Given the description of an element on the screen output the (x, y) to click on. 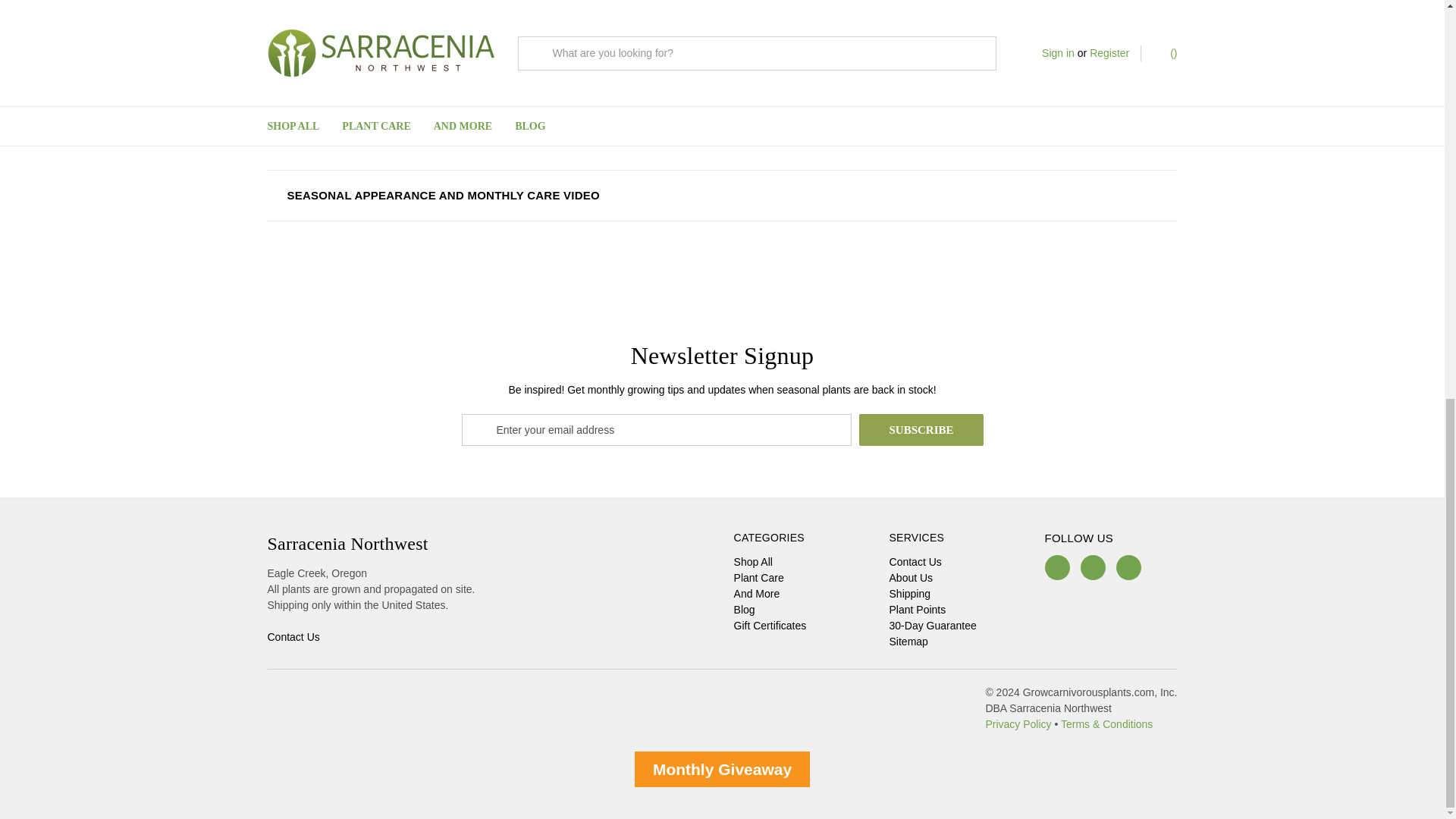
Subscribe (920, 429)
Nepenthes Buttons, mother plant (535, 16)
Nepenthes Buttons, mother plant (481, 71)
Nepenthes Buttons for Sale (589, 71)
